Given the description of an element on the screen output the (x, y) to click on. 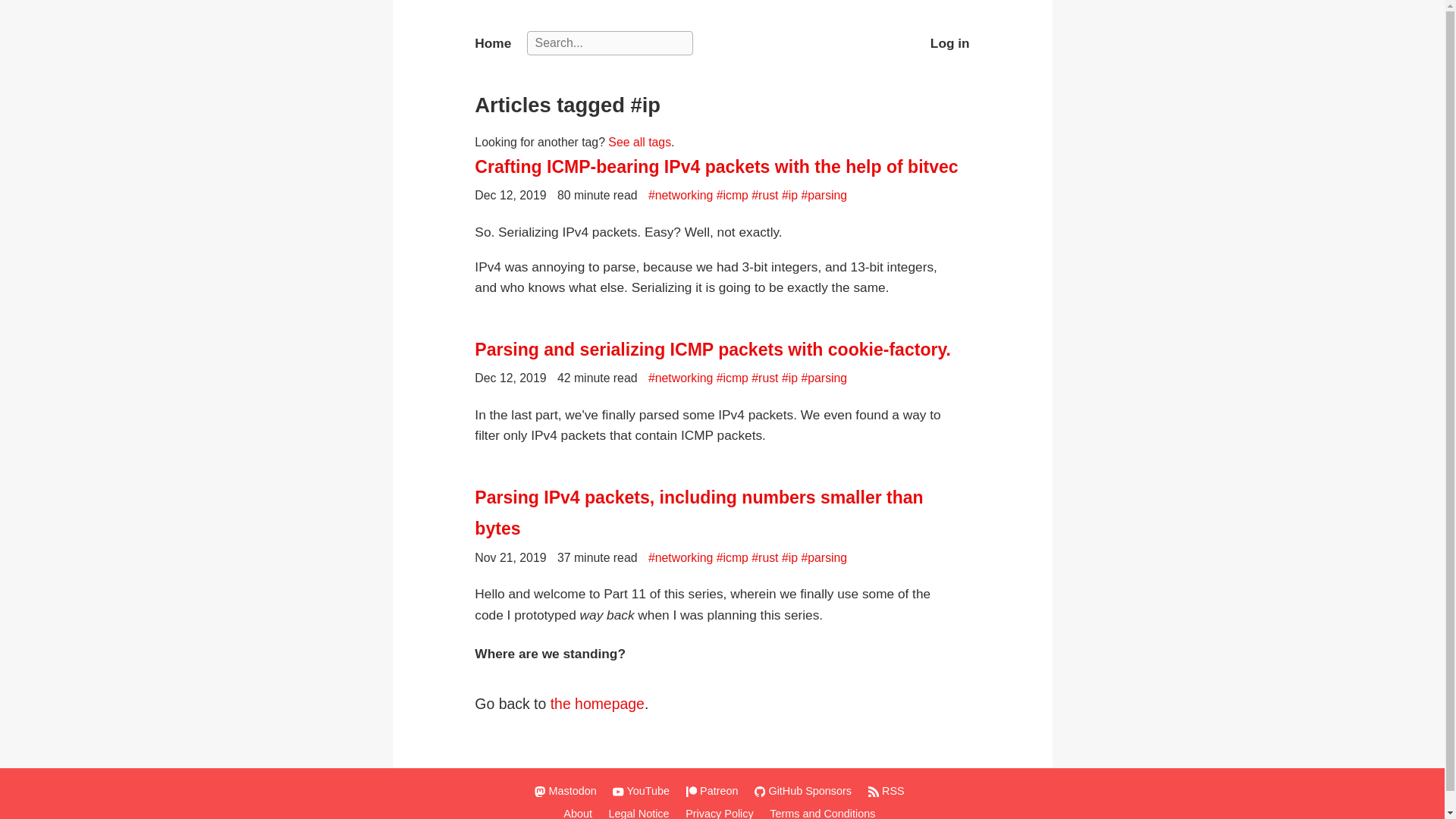
YouTube (643, 790)
Home (492, 43)
See all tags (639, 141)
About (579, 813)
Legal Notice (641, 813)
Parsing and serializing ICMP packets with cookie-factory. (721, 349)
RSS (888, 790)
GitHub Sponsors (805, 790)
Privacy Policy (721, 813)
Patreon (714, 790)
